Given the description of an element on the screen output the (x, y) to click on. 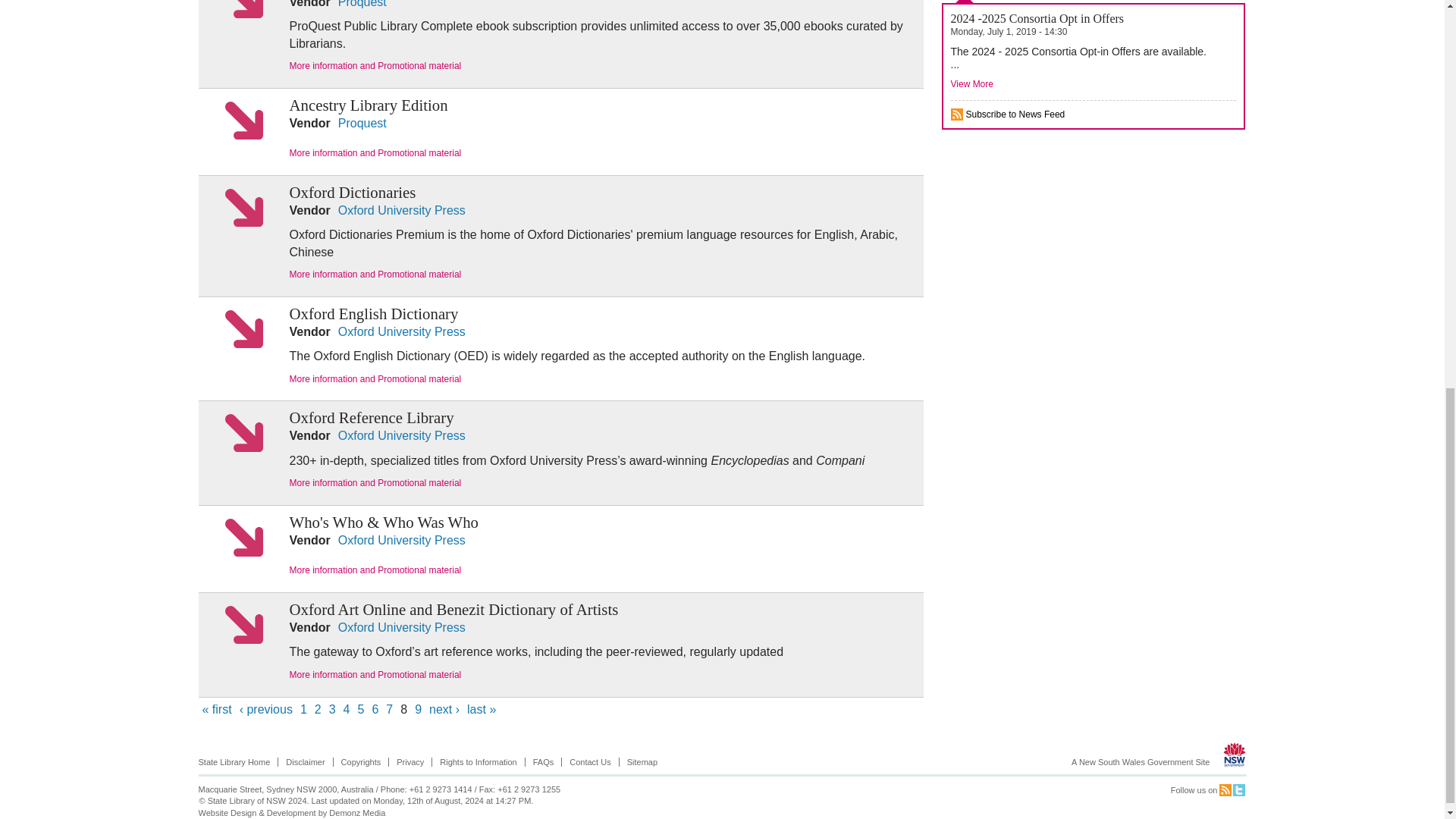
Go to last page (481, 708)
Go to previous page (266, 708)
Go to next page (444, 708)
Go to first page (216, 708)
